Given the description of an element on the screen output the (x, y) to click on. 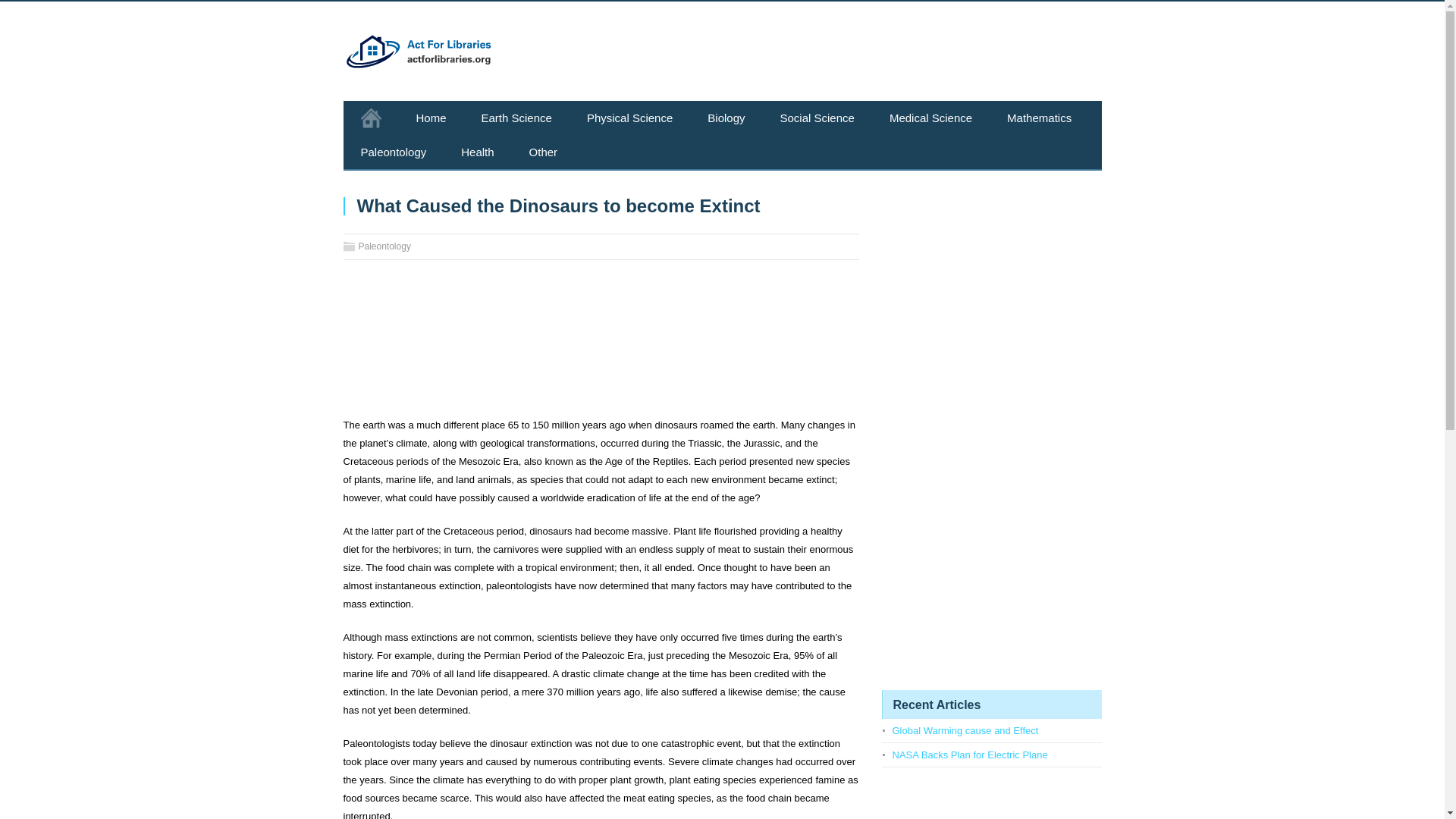
Global Warming cause and Effect (964, 730)
Paleontology (393, 151)
Social Science (817, 117)
Advertisement (600, 344)
Mathematics (1039, 117)
Biology (725, 117)
NASA Backs Plan for Electric Plane (968, 754)
Home (431, 117)
Physical Science (629, 117)
Other (543, 151)
Paleontology (384, 245)
Health (477, 151)
Earth Science (516, 117)
Medical Science (931, 117)
